Given the description of an element on the screen output the (x, y) to click on. 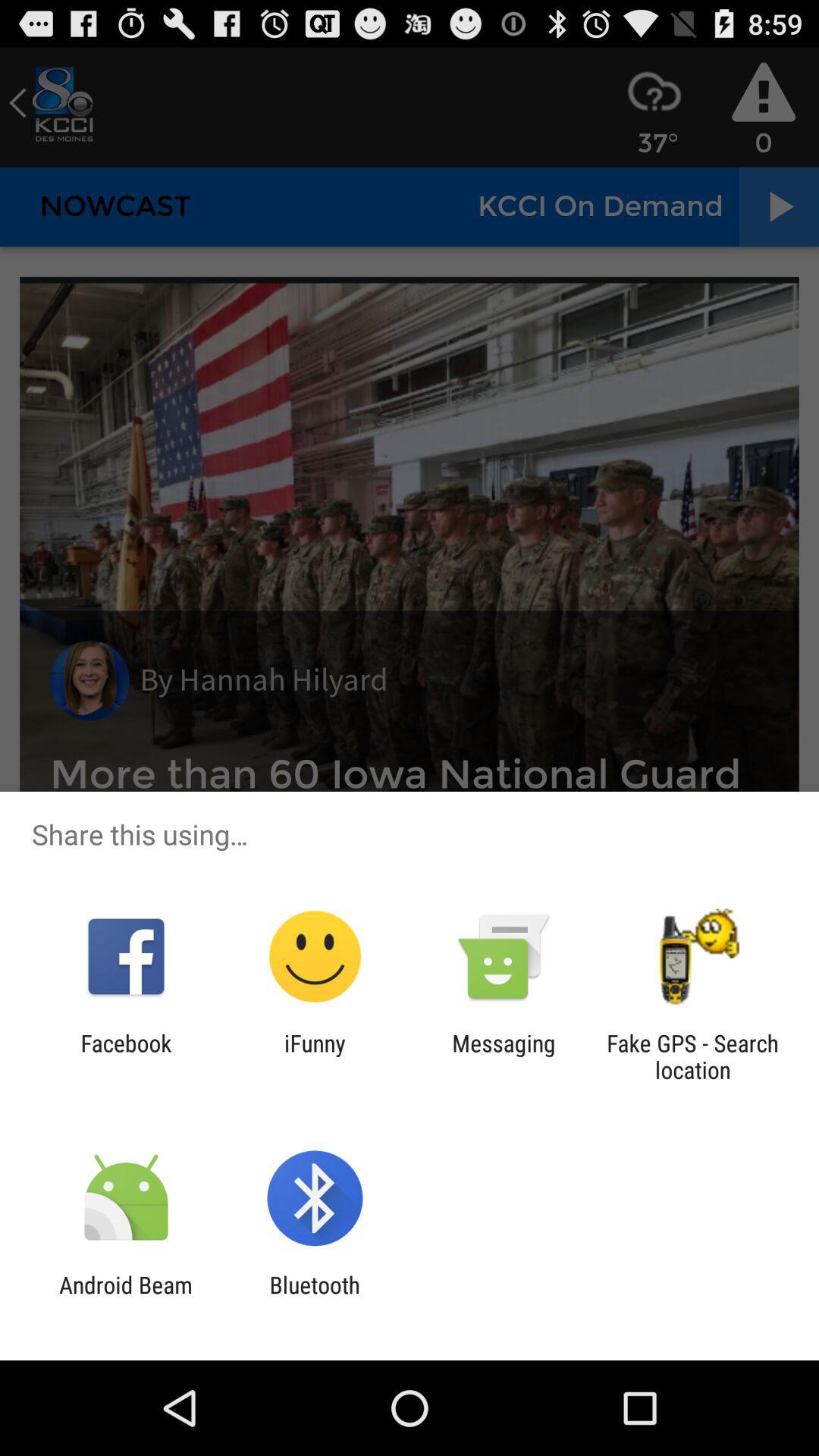
select the item to the right of the messaging item (692, 1056)
